Given the description of an element on the screen output the (x, y) to click on. 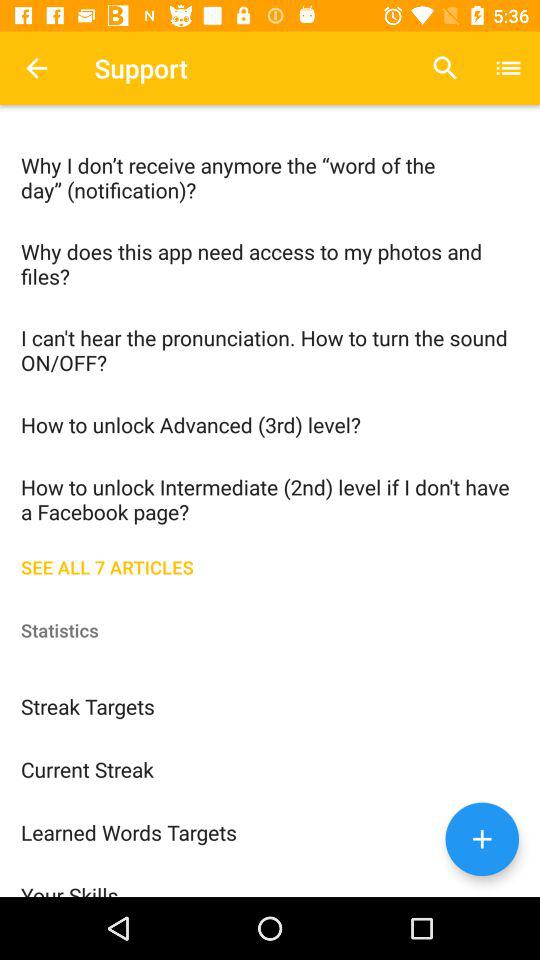
scroll to the current streak item (270, 768)
